Given the description of an element on the screen output the (x, y) to click on. 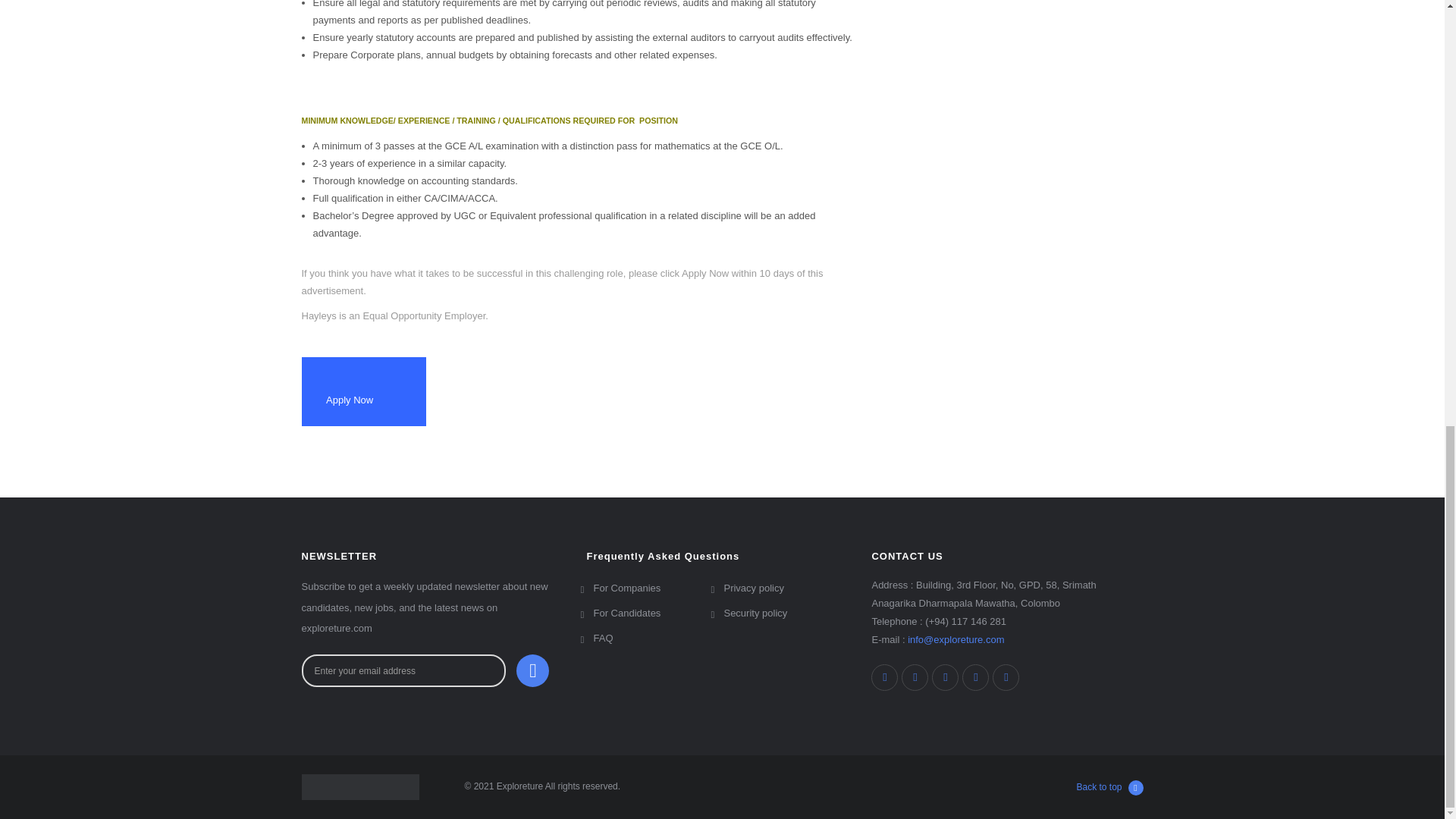
Enter your email address (403, 670)
